Given the description of an element on the screen output the (x, y) to click on. 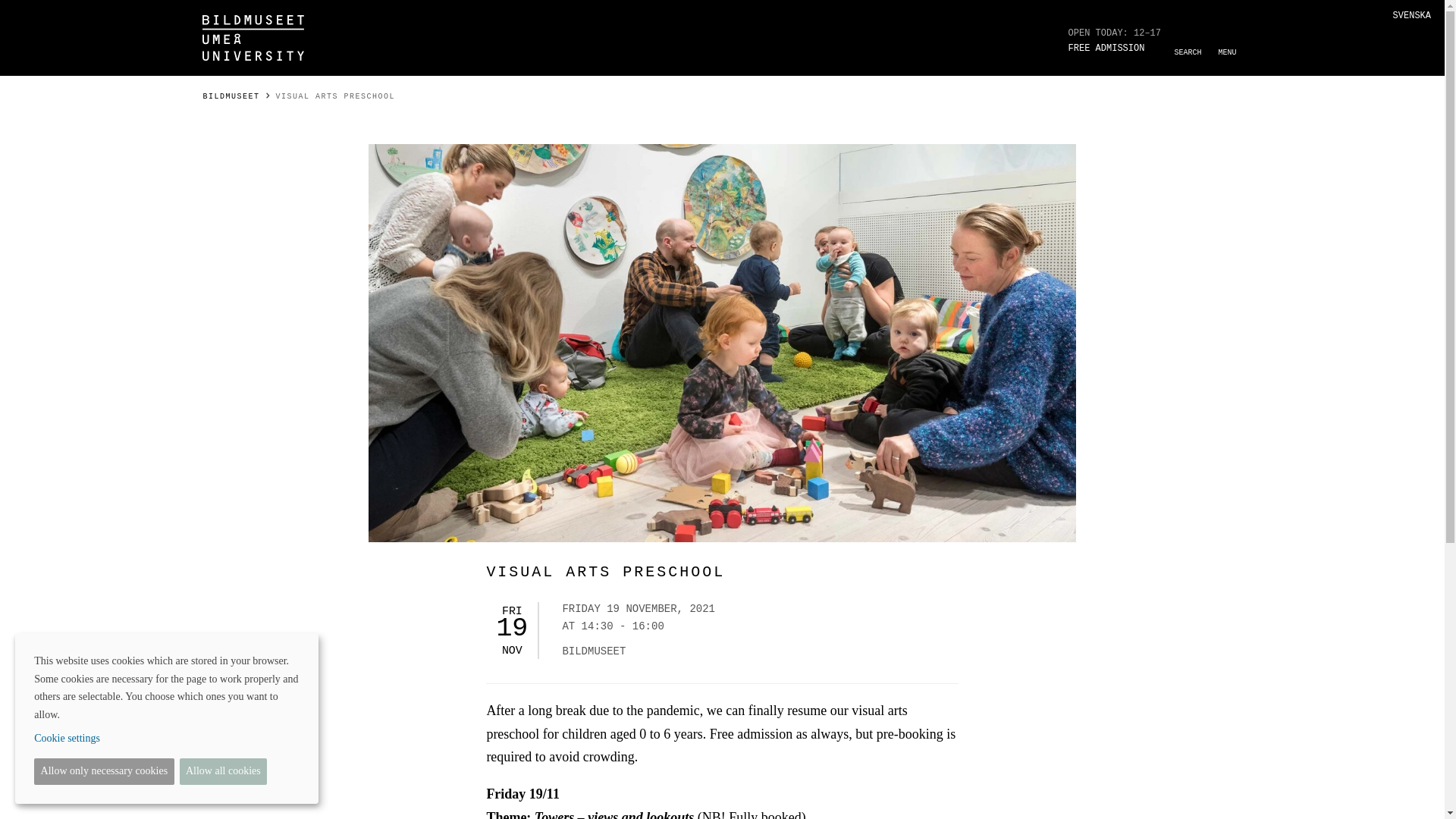
Cookie settings (163, 738)
Allow all cookies (223, 771)
BILDMUSEET (230, 96)
SVENSKA (1412, 15)
Allow only necessary cookies (103, 771)
